Given the description of an element on the screen output the (x, y) to click on. 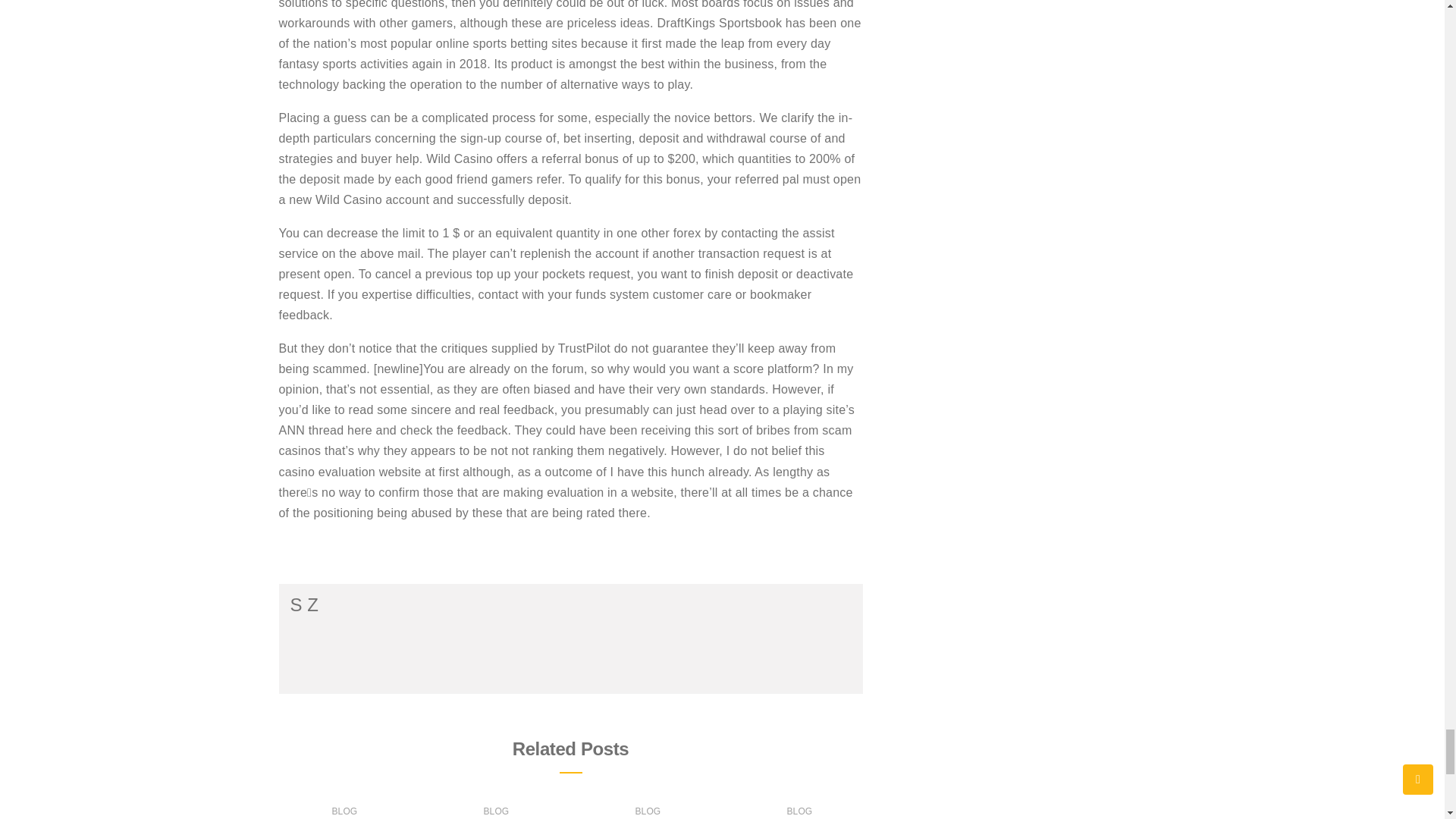
BLOG (343, 810)
BLOG (495, 810)
BLOG (647, 810)
BLOG (799, 810)
